Given the description of an element on the screen output the (x, y) to click on. 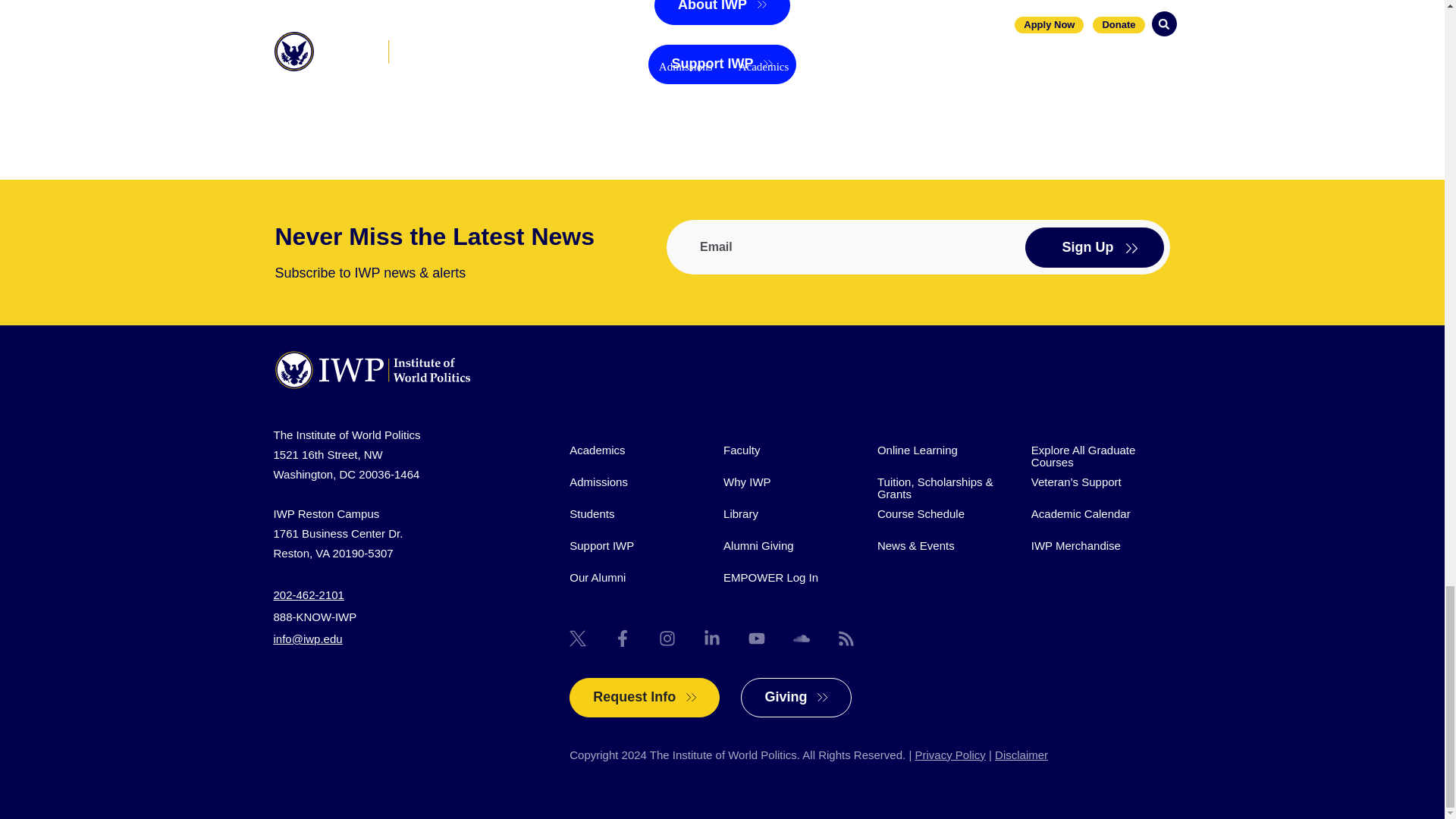
Sign Up (1094, 247)
